Given the description of an element on the screen output the (x, y) to click on. 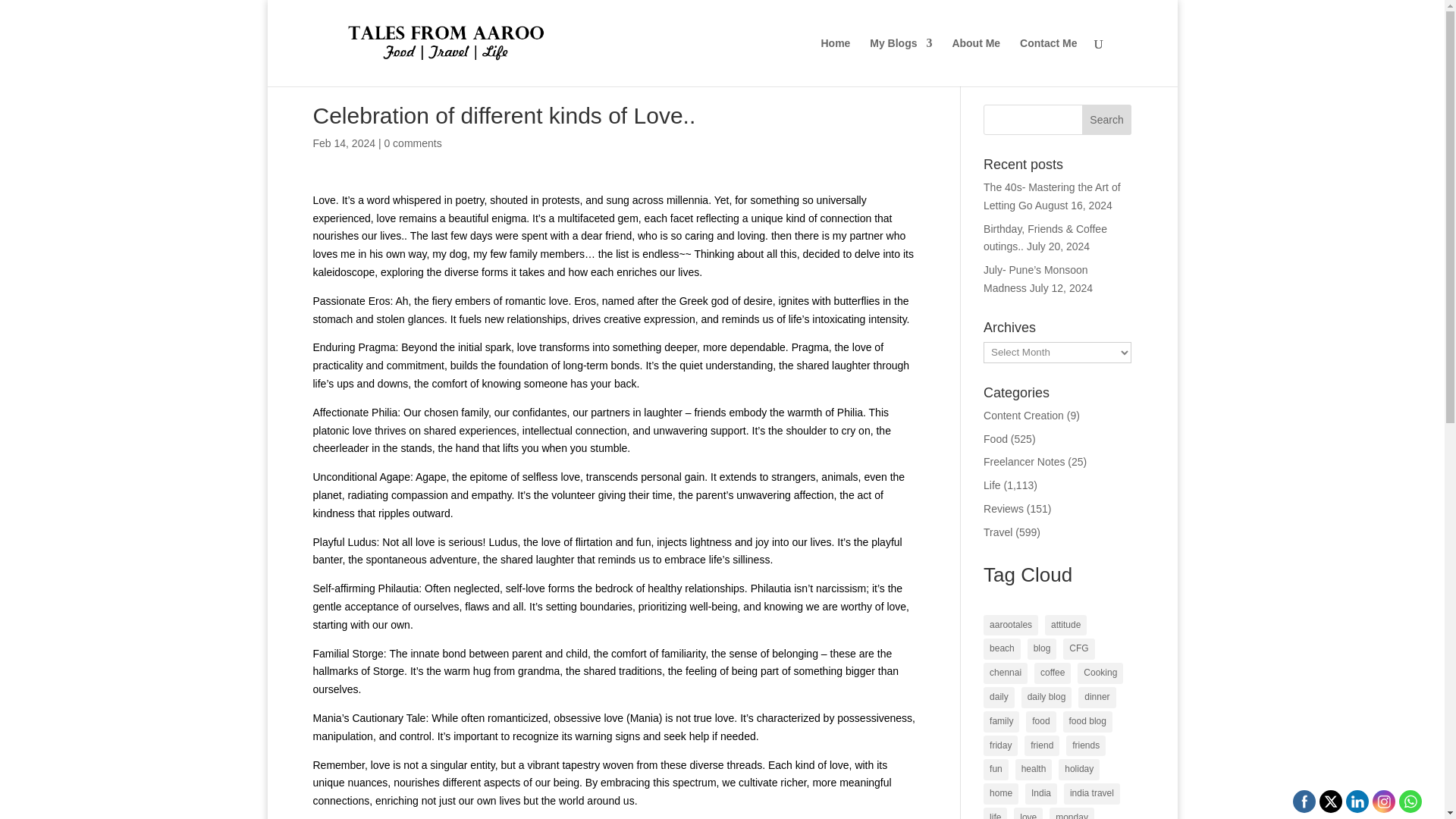
Contact Me (1048, 61)
Freelancer Notes (1024, 461)
0 comments (412, 143)
Travel (997, 532)
Search (1106, 119)
Search (1106, 119)
aarootales (1011, 625)
beach (1002, 649)
Instagram (1383, 801)
friends (1085, 745)
